Given the description of an element on the screen output the (x, y) to click on. 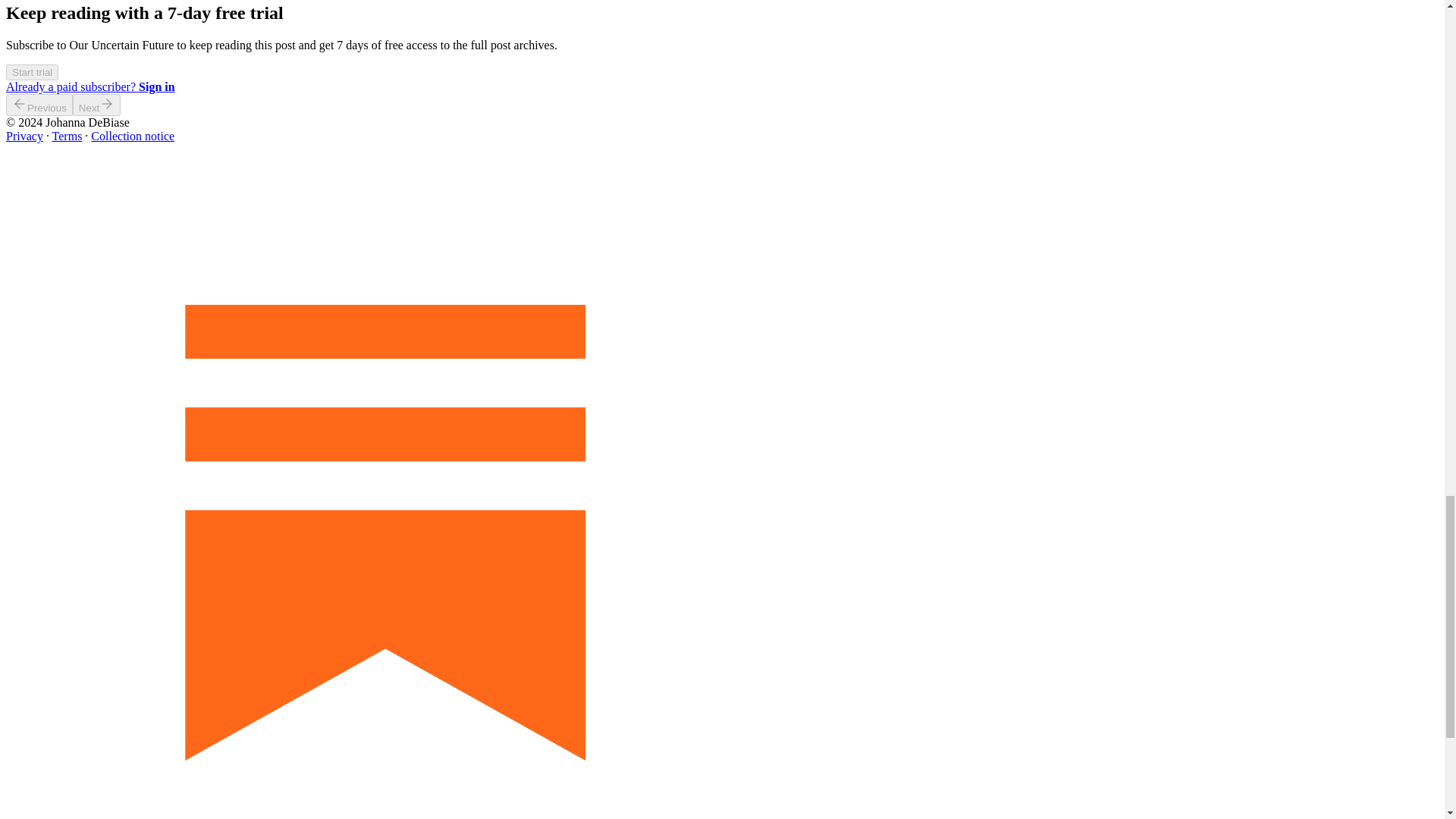
Start trial (31, 72)
Next (96, 105)
Privacy (24, 135)
Already a paid subscriber? Sign in (89, 86)
Previous (38, 105)
Collection notice (132, 135)
Start trial (31, 71)
Terms (67, 135)
